Given the description of an element on the screen output the (x, y) to click on. 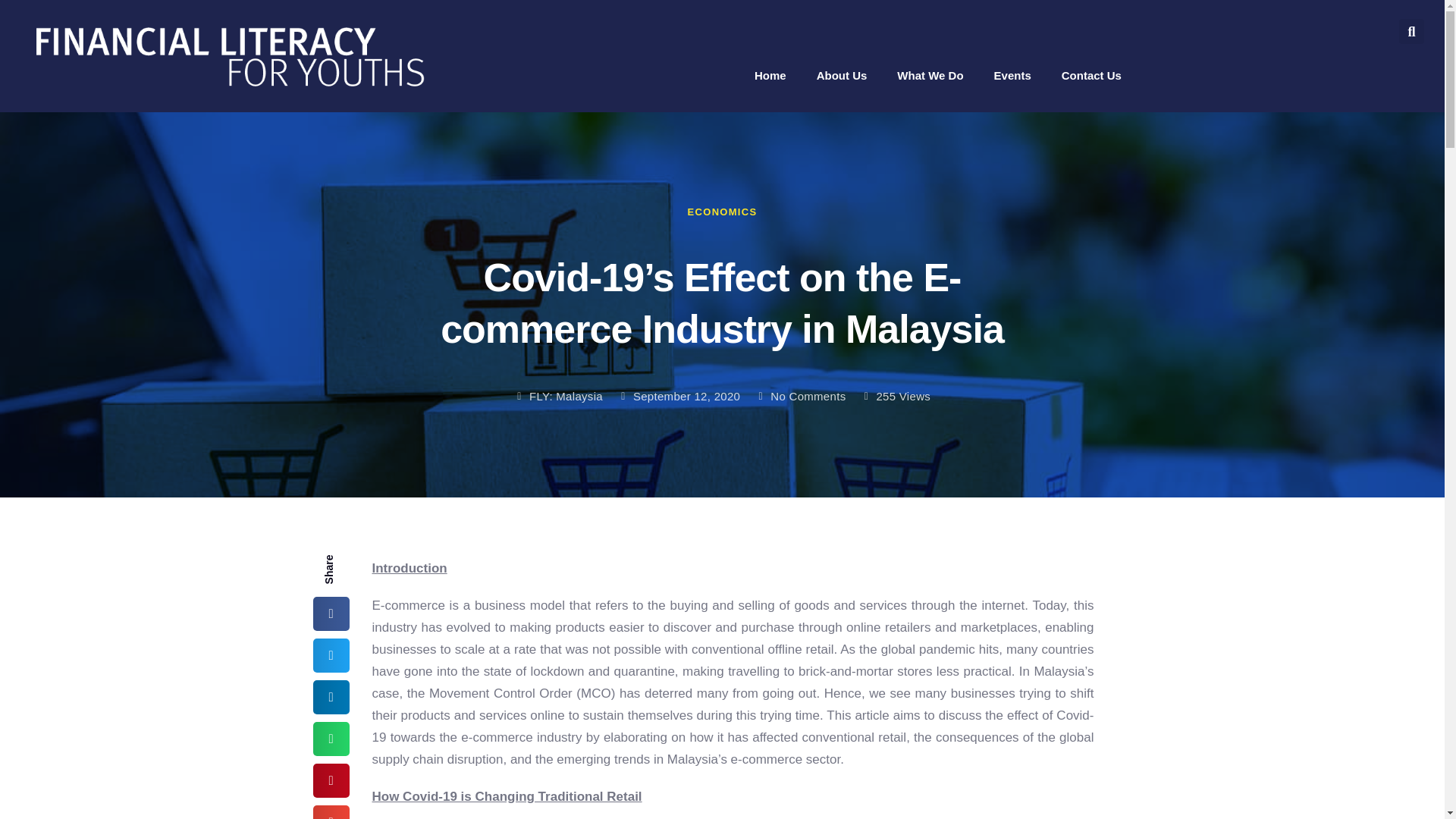
Events (1012, 74)
Home (770, 74)
FLY: Malaysia (557, 396)
No Comments (800, 396)
About Us (841, 74)
ECONOMICS (722, 211)
What We Do (929, 74)
Contact Us (1091, 74)
September 12, 2020 (678, 396)
